Given the description of an element on the screen output the (x, y) to click on. 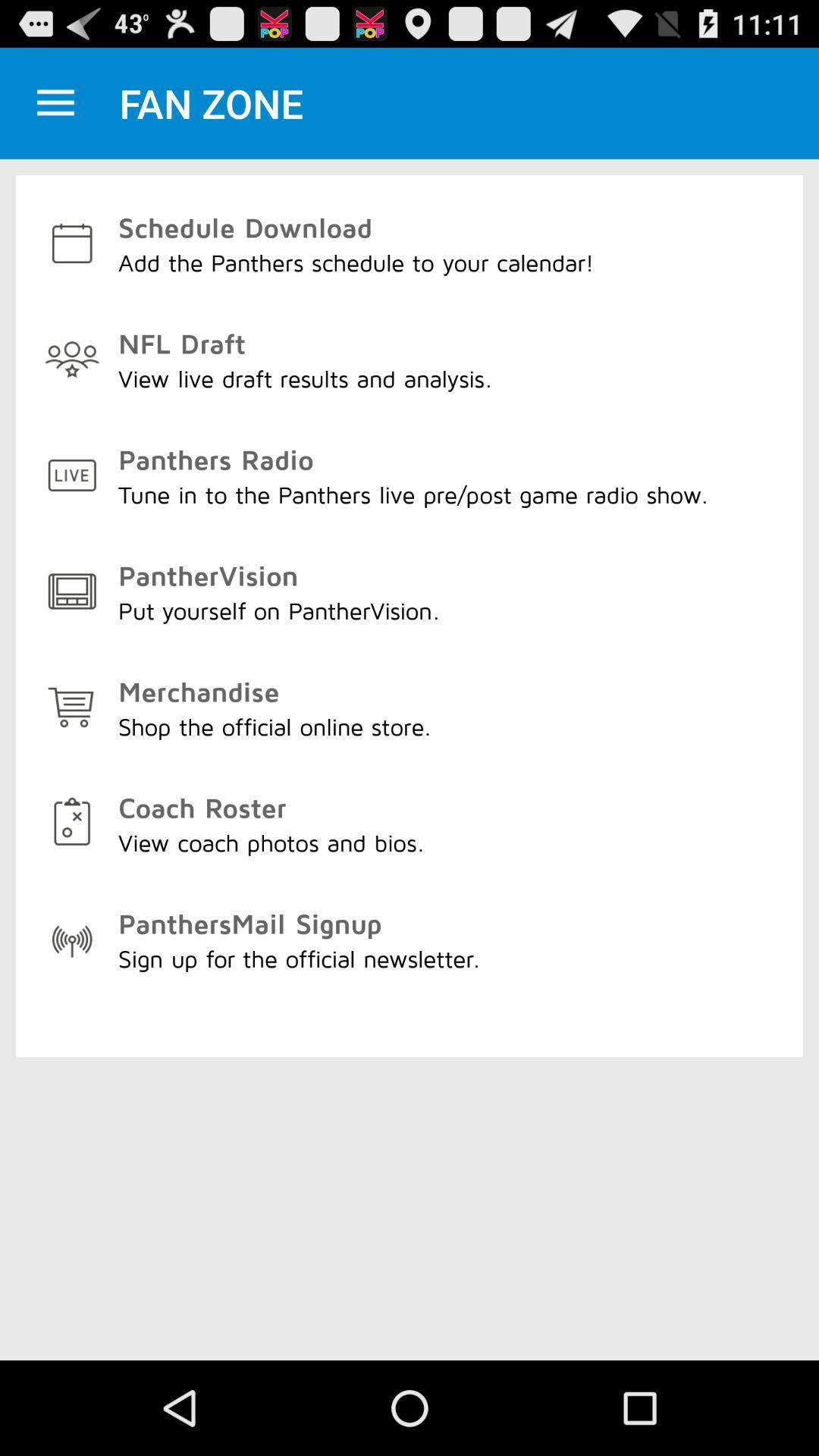
open the item next to the fan zone app (55, 103)
